Given the description of an element on the screen output the (x, y) to click on. 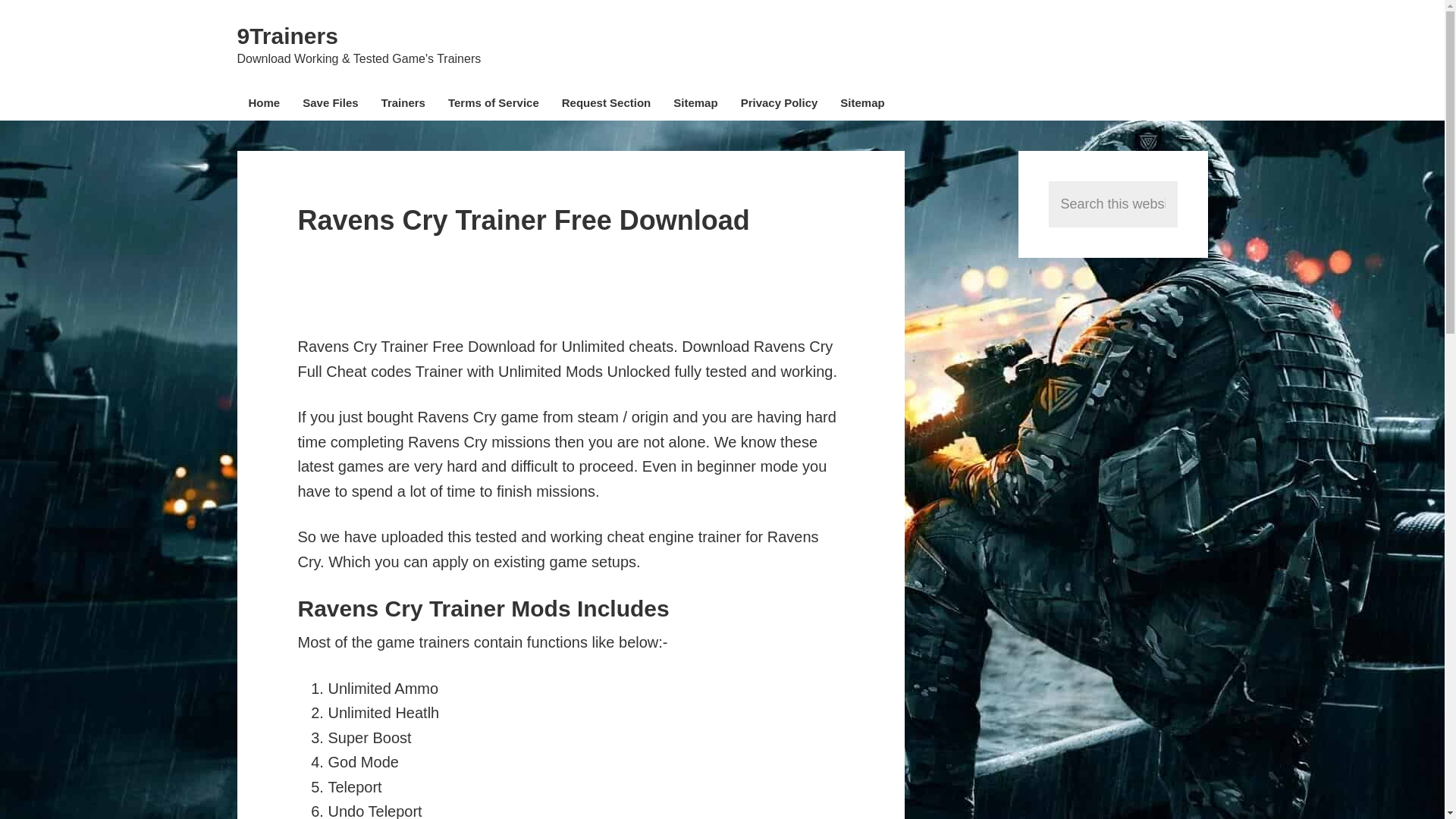
9Trainers (286, 35)
Sitemap (695, 105)
Trainers (402, 105)
Advertisement (572, 285)
Sitemap (861, 105)
Home (263, 105)
Terms of Service (493, 105)
Request Section (606, 105)
Save Files (330, 105)
Privacy Policy (779, 105)
